Given the description of an element on the screen output the (x, y) to click on. 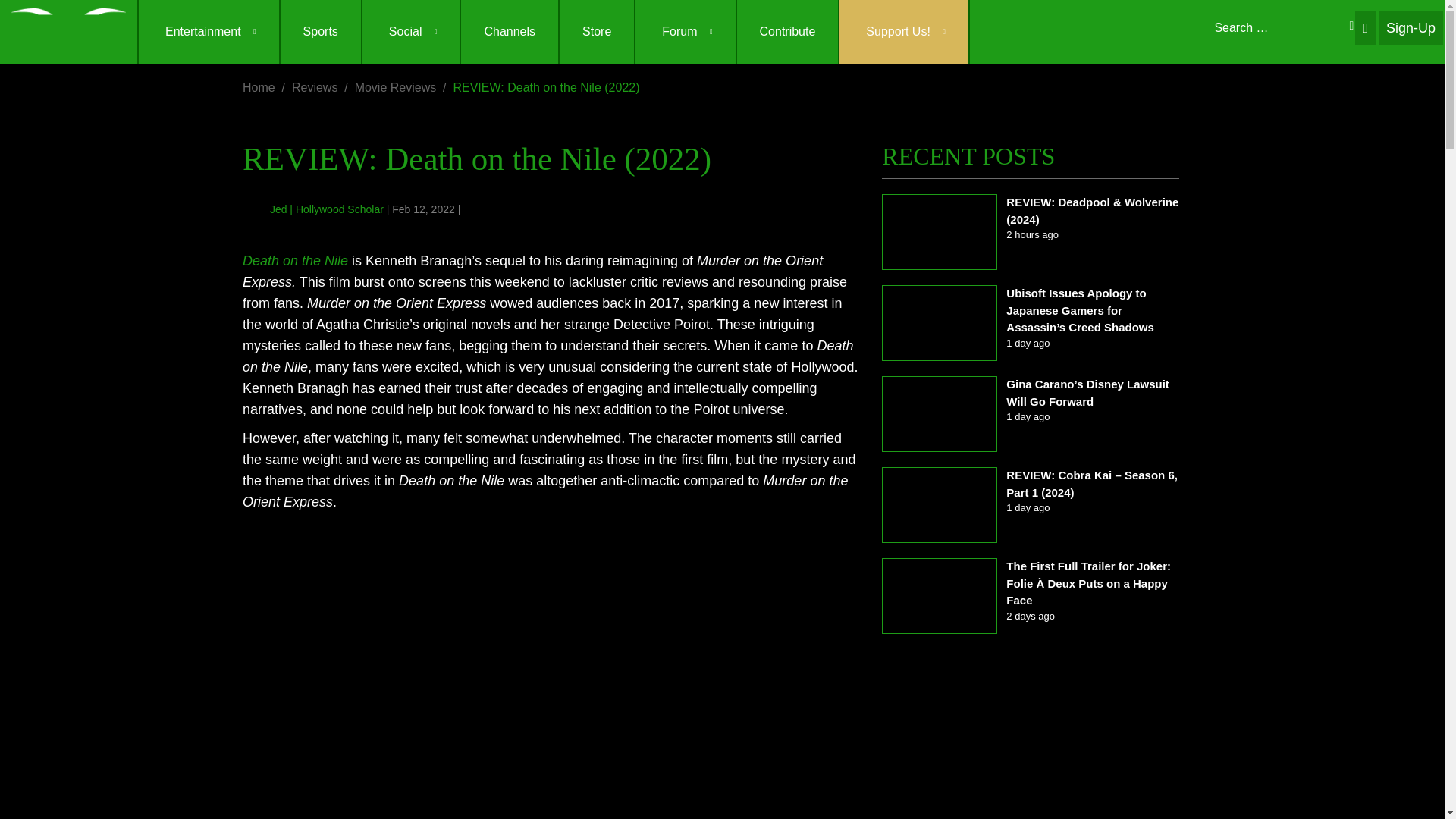
Contribute (787, 32)
Movie Reviews (395, 87)
Home (259, 87)
Sign-Up (1410, 28)
Social (411, 32)
Channels (509, 32)
Death on the Nile (295, 260)
Entertainment (208, 32)
Go to the Movie Reviews category archives. (395, 87)
Forum (684, 32)
Go to the Reviews category archives. (314, 87)
Reviews (314, 87)
Support Us! (904, 32)
Sports (321, 32)
Store (596, 32)
